Given the description of an element on the screen output the (x, y) to click on. 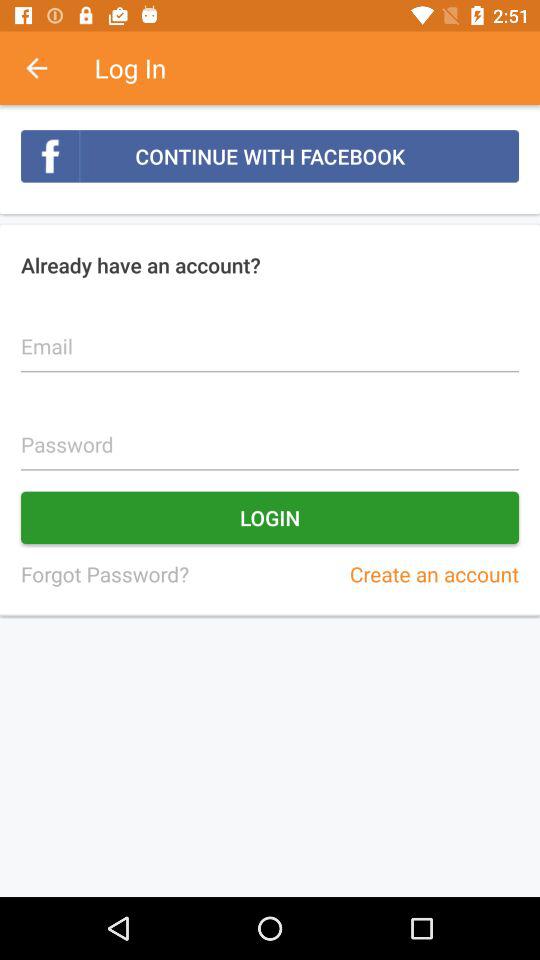
open icon to the left of create an account item (104, 573)
